Given the description of an element on the screen output the (x, y) to click on. 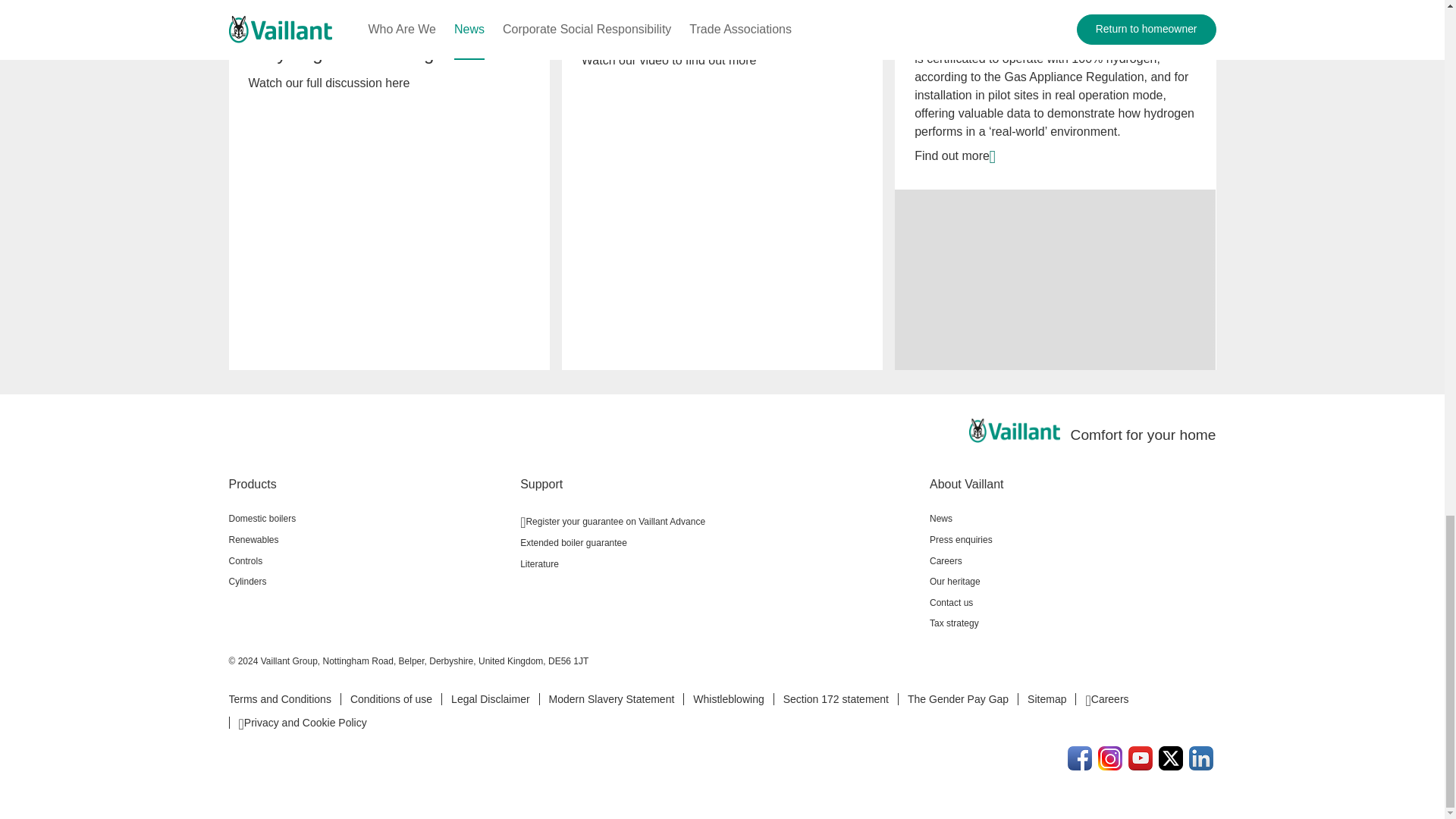
Youtube (1140, 758)
Careers (1072, 560)
About Vaillant (1072, 484)
Facebook (1079, 758)
News (1072, 518)
Renewables (368, 539)
Press enquiries (1072, 539)
Extended boiler guarantee (718, 542)
Linkedin (1200, 758)
Domestic boilers (368, 518)
Support (718, 484)
Controls (368, 560)
Register your guarantee on Vaillant Advance (718, 520)
Cylinders (368, 581)
Instagram (1109, 758)
